Given the description of an element on the screen output the (x, y) to click on. 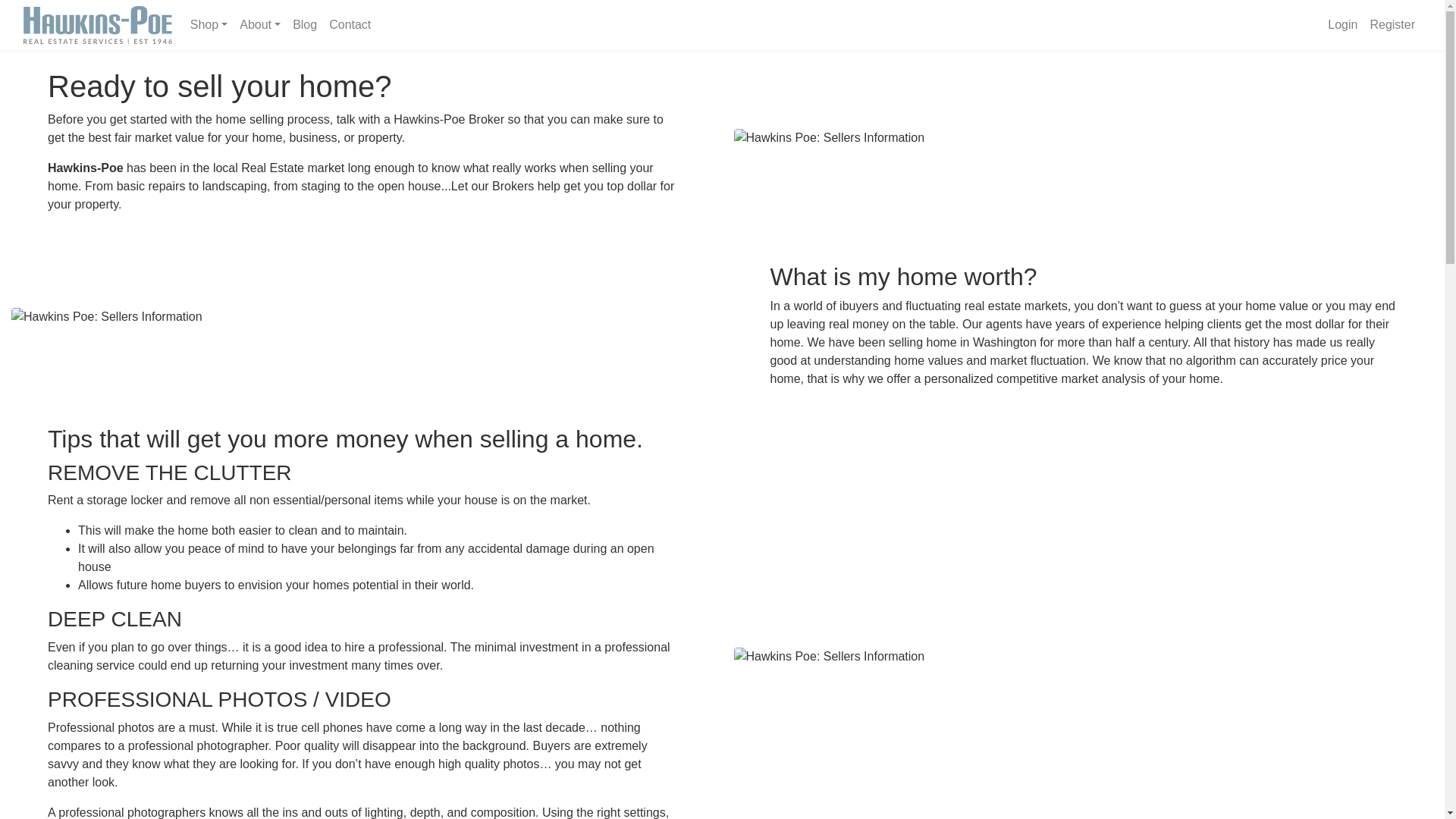
Shop (208, 24)
Contact (350, 24)
About (259, 24)
Blog (304, 24)
Register (1391, 24)
Login (1342, 24)
